Given the description of an element on the screen output the (x, y) to click on. 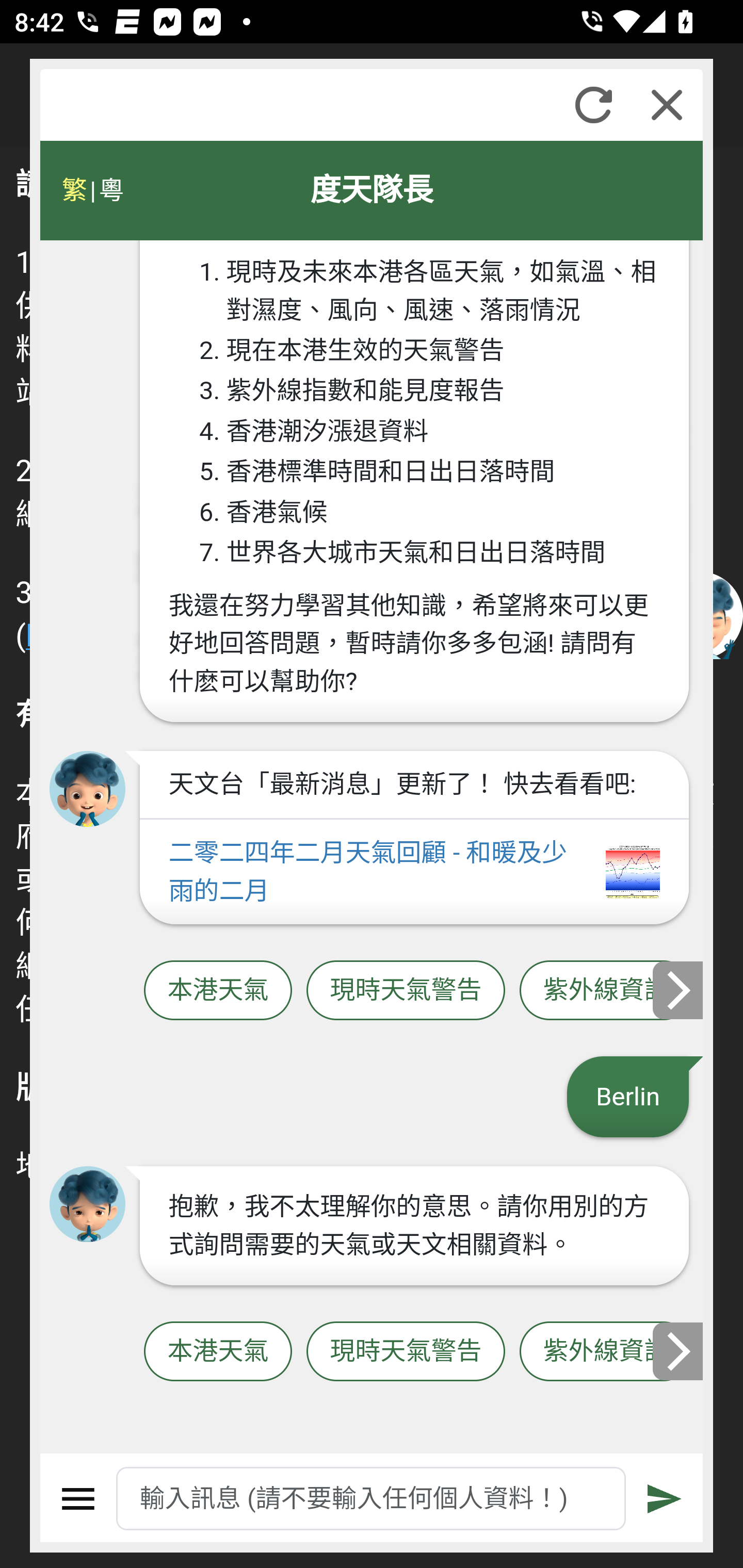
重新整理 (593, 104)
關閉 (666, 104)
繁 (73, 190)
粵 (110, 190)
二零二四年二月天氣回顧 - 和暖及少雨的二月 (413, 872)
本港天氣 (217, 990)
現時天氣警告 (405, 990)
紫外線資訊 (605, 990)
下一張 (678, 989)
本港天氣 (217, 1351)
現時天氣警告 (405, 1351)
紫外線資訊 (605, 1351)
下一張 (678, 1351)
選單 (78, 1498)
遞交 (665, 1498)
